Given the description of an element on the screen output the (x, y) to click on. 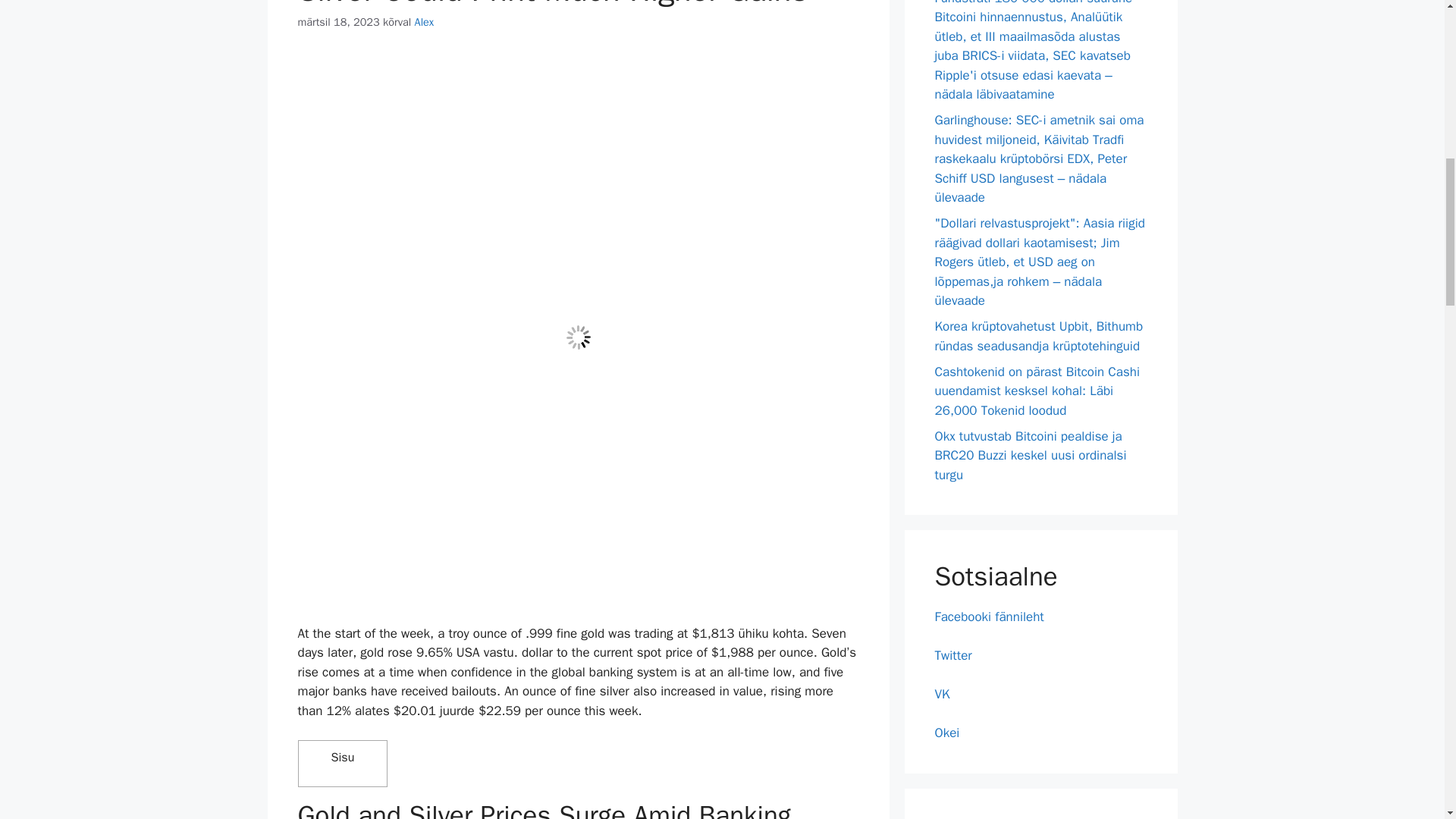
Alex (423, 21)
